Given the description of an element on the screen output the (x, y) to click on. 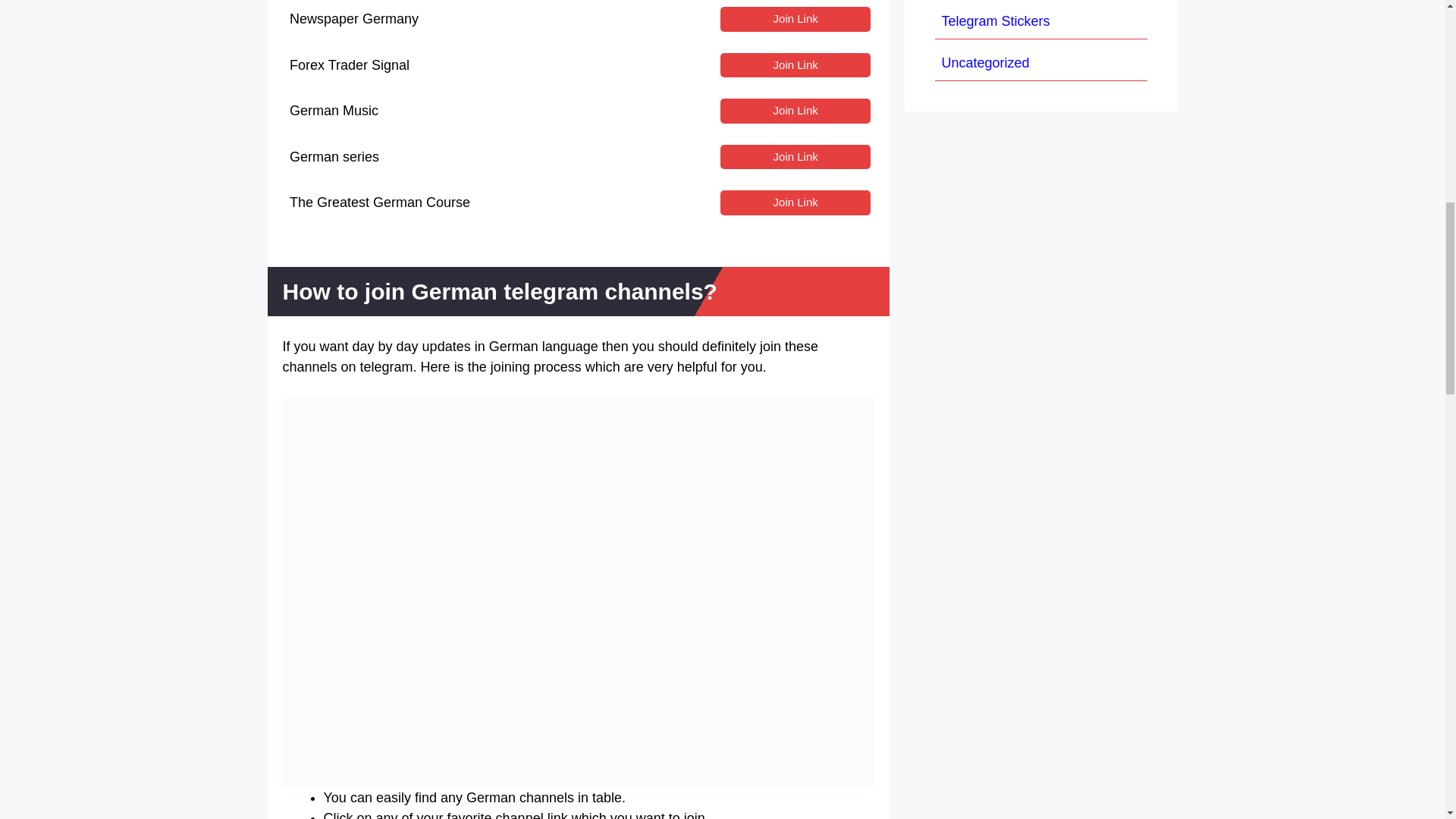
Join Link (795, 18)
Join Link (795, 65)
Join Link (795, 110)
Join Link (795, 156)
Join Link (795, 202)
